Given the description of an element on the screen output the (x, y) to click on. 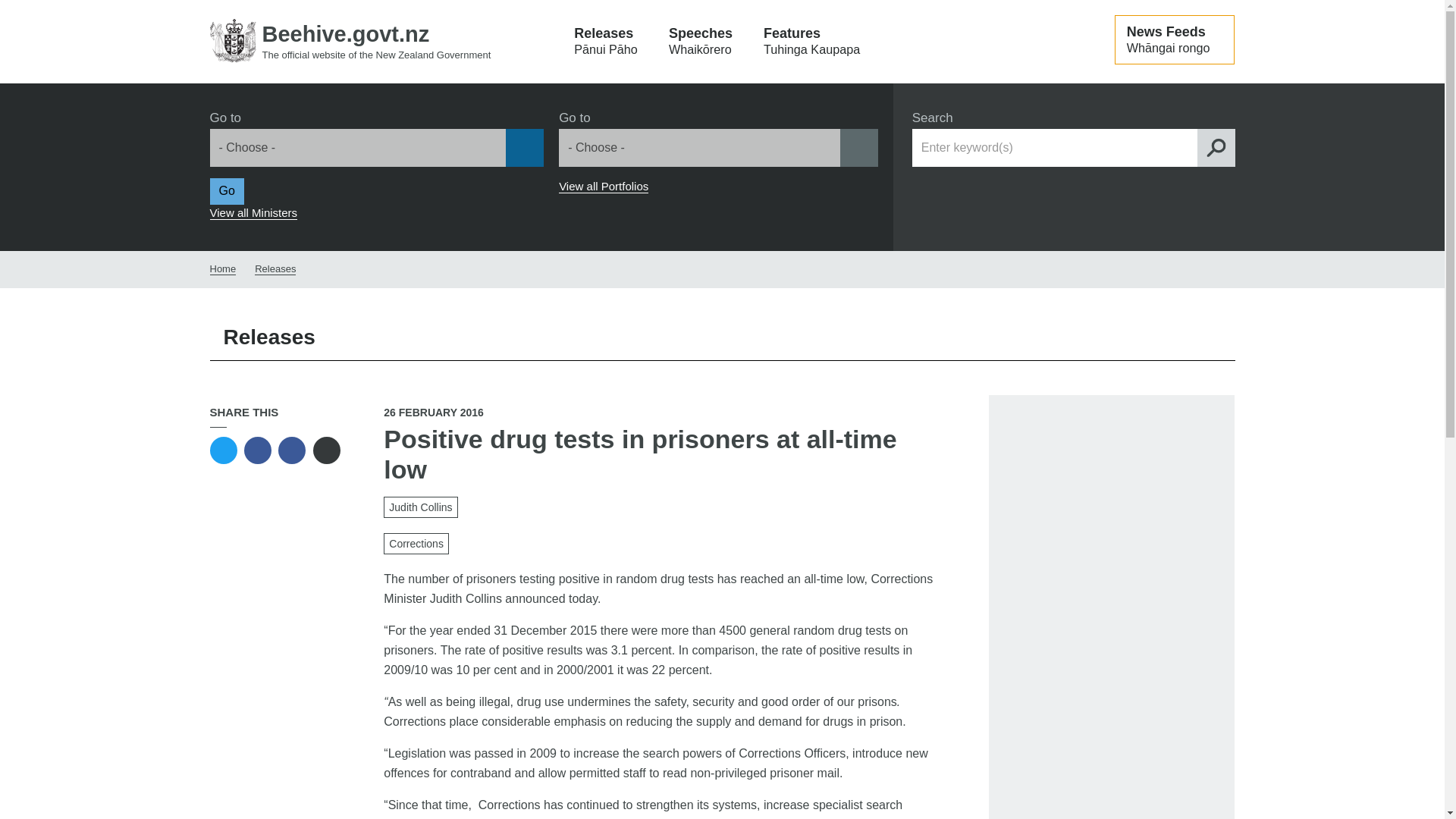
Speeches (700, 41)
View all Portfolios (603, 186)
Search (1215, 147)
Releases (605, 41)
Go (226, 191)
Home (349, 40)
Releases (274, 268)
View all Ministers (253, 213)
Go (16, 13)
Twitter (222, 450)
